Given the description of an element on the screen output the (x, y) to click on. 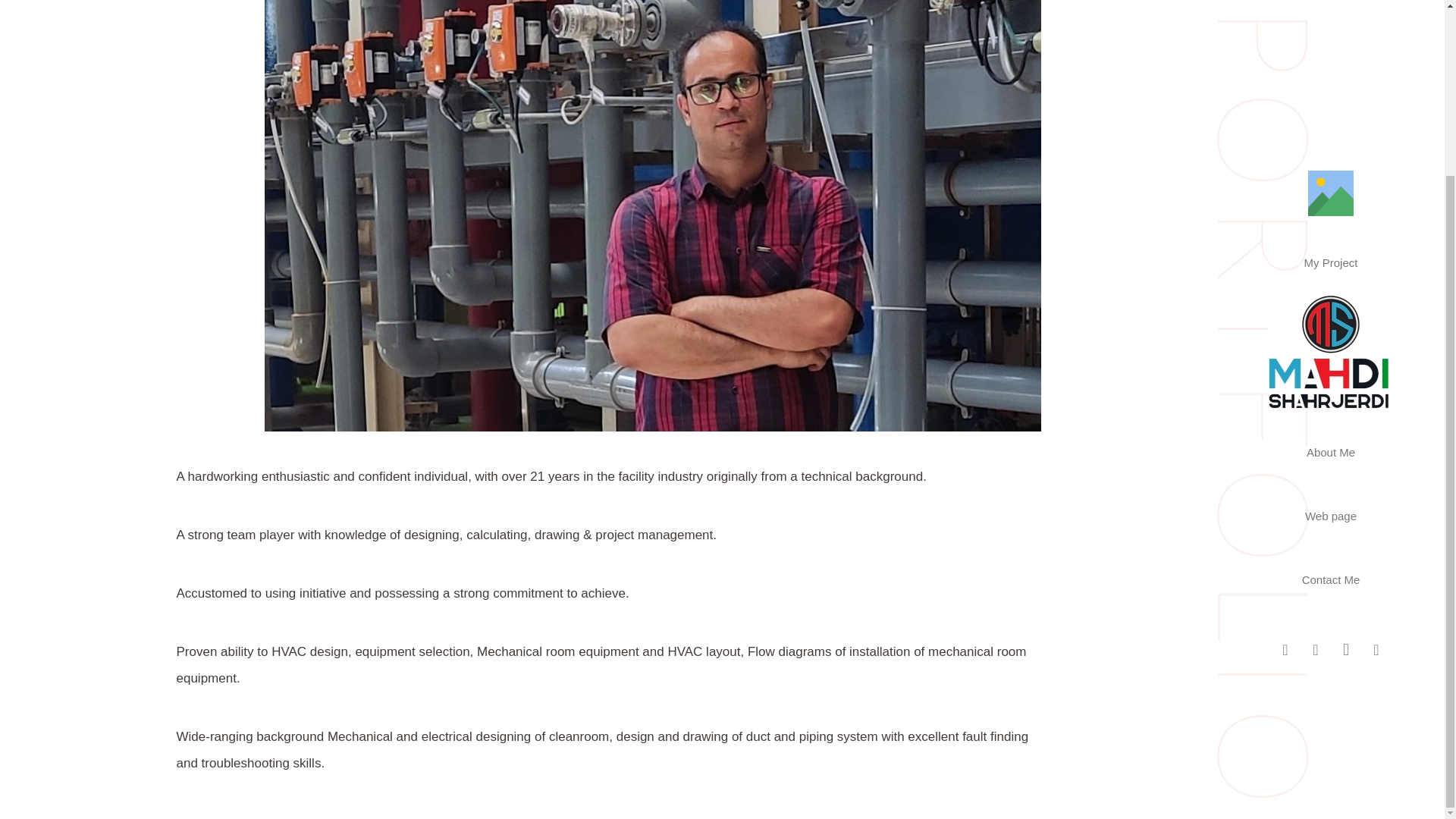
Instagram (1345, 435)
LinkedIn (1315, 435)
Google (1284, 435)
Facebook (1376, 435)
